Given the description of an element on the screen output the (x, y) to click on. 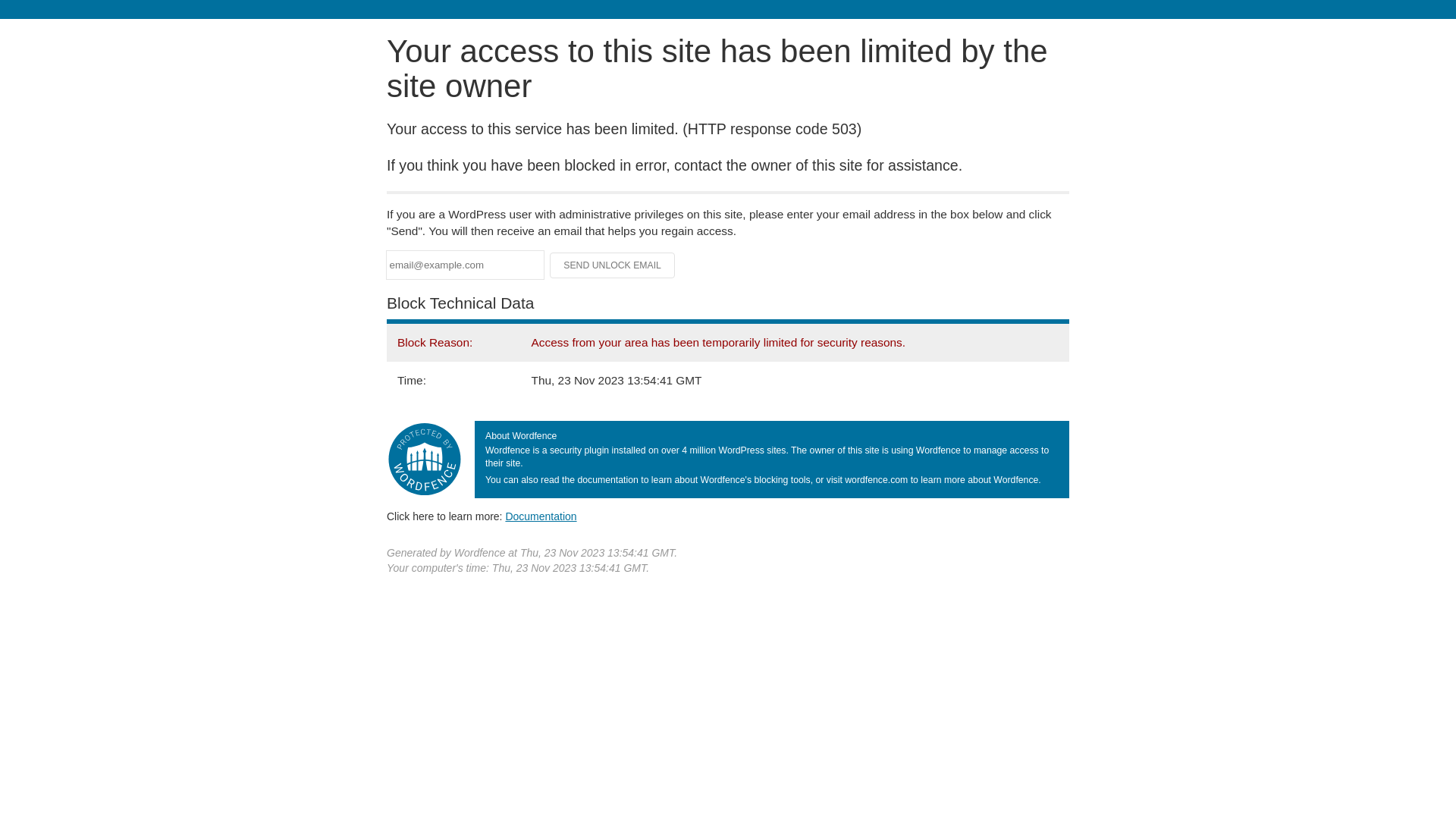
Documentation Element type: text (540, 516)
Send Unlock Email Element type: text (612, 265)
